Given the description of an element on the screen output the (x, y) to click on. 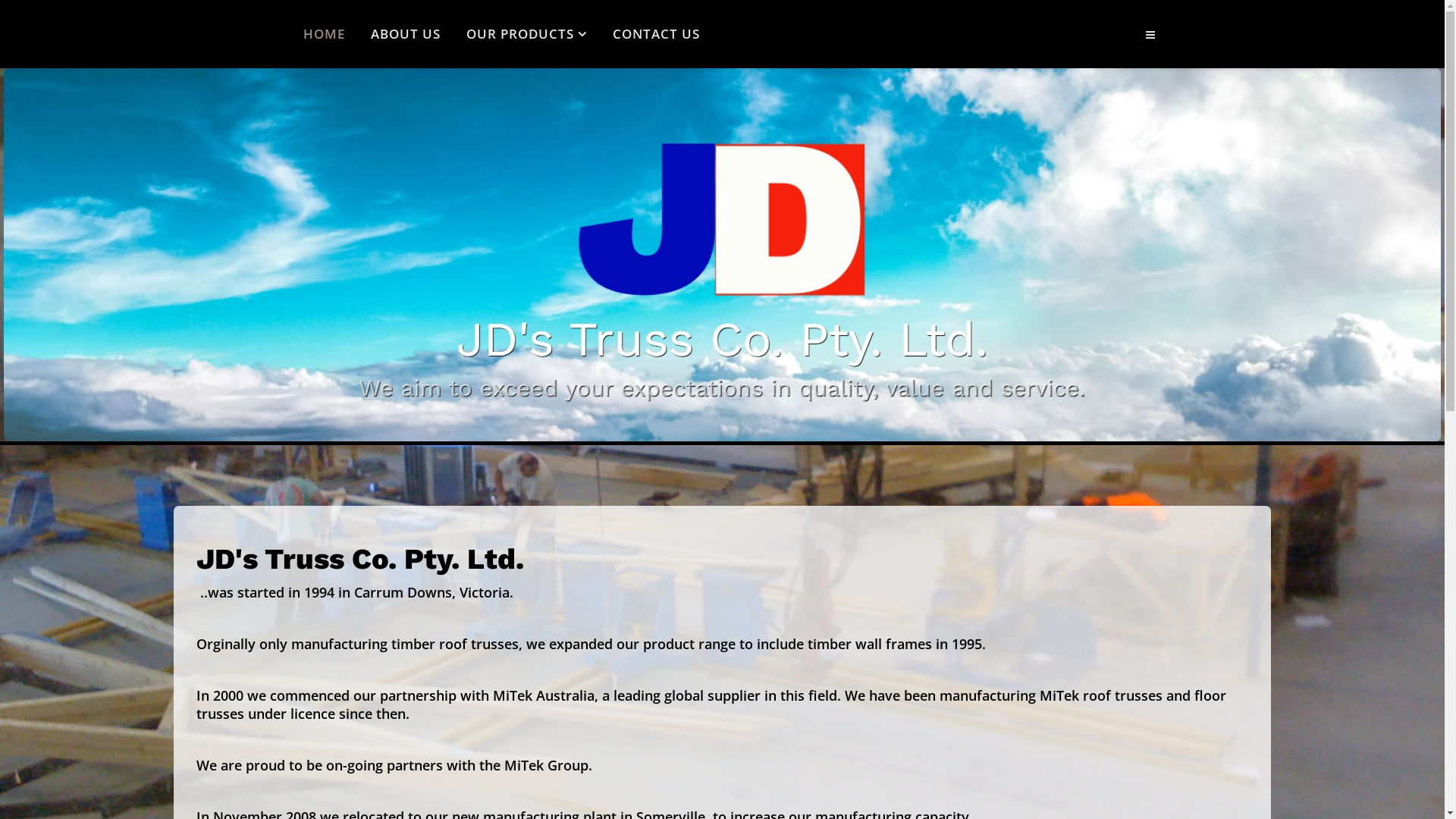
CONTACT US Element type: text (655, 34)
HOME Element type: text (323, 34)
Helix Megamenu Options Element type: hover (1149, 34)
OUR PRODUCTS Element type: text (526, 34)
ABOUT US Element type: text (405, 34)
